Given the description of an element on the screen output the (x, y) to click on. 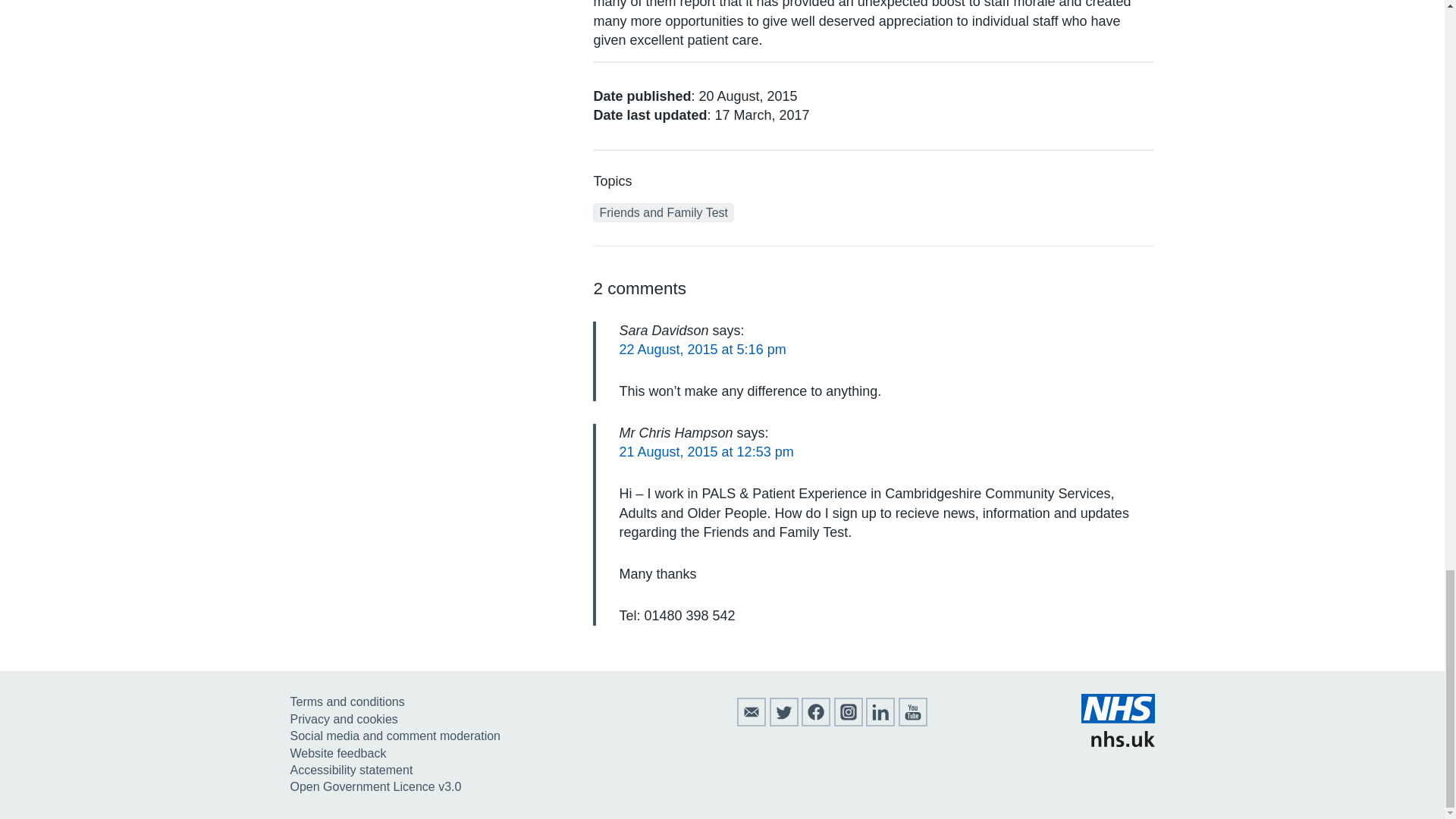
Sign up to our email bulletins (750, 721)
Social media and comment moderation (394, 735)
21 August, 2015 at 12:53 pm (705, 451)
Privacy and cookies (343, 718)
Find us on Instagram (848, 721)
Open Government Licence v3.0 (375, 786)
Terms and conditions (346, 701)
Accessibility statement (350, 769)
Friends and Family Test (662, 212)
Follow us on Facebook (815, 721)
